Given the description of an element on the screen output the (x, y) to click on. 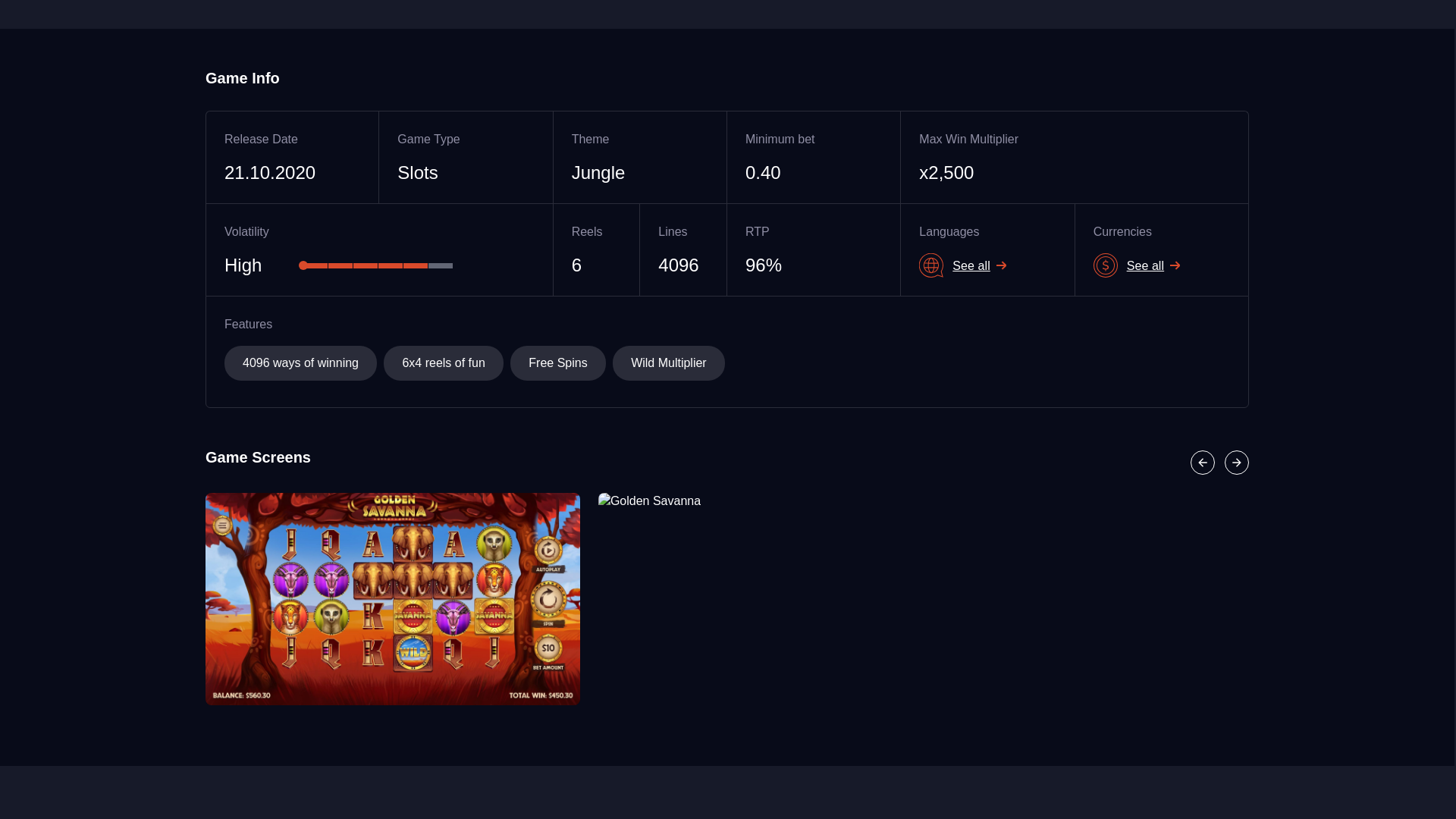
See all (986, 265)
See all (1161, 265)
